Given the description of an element on the screen output the (x, y) to click on. 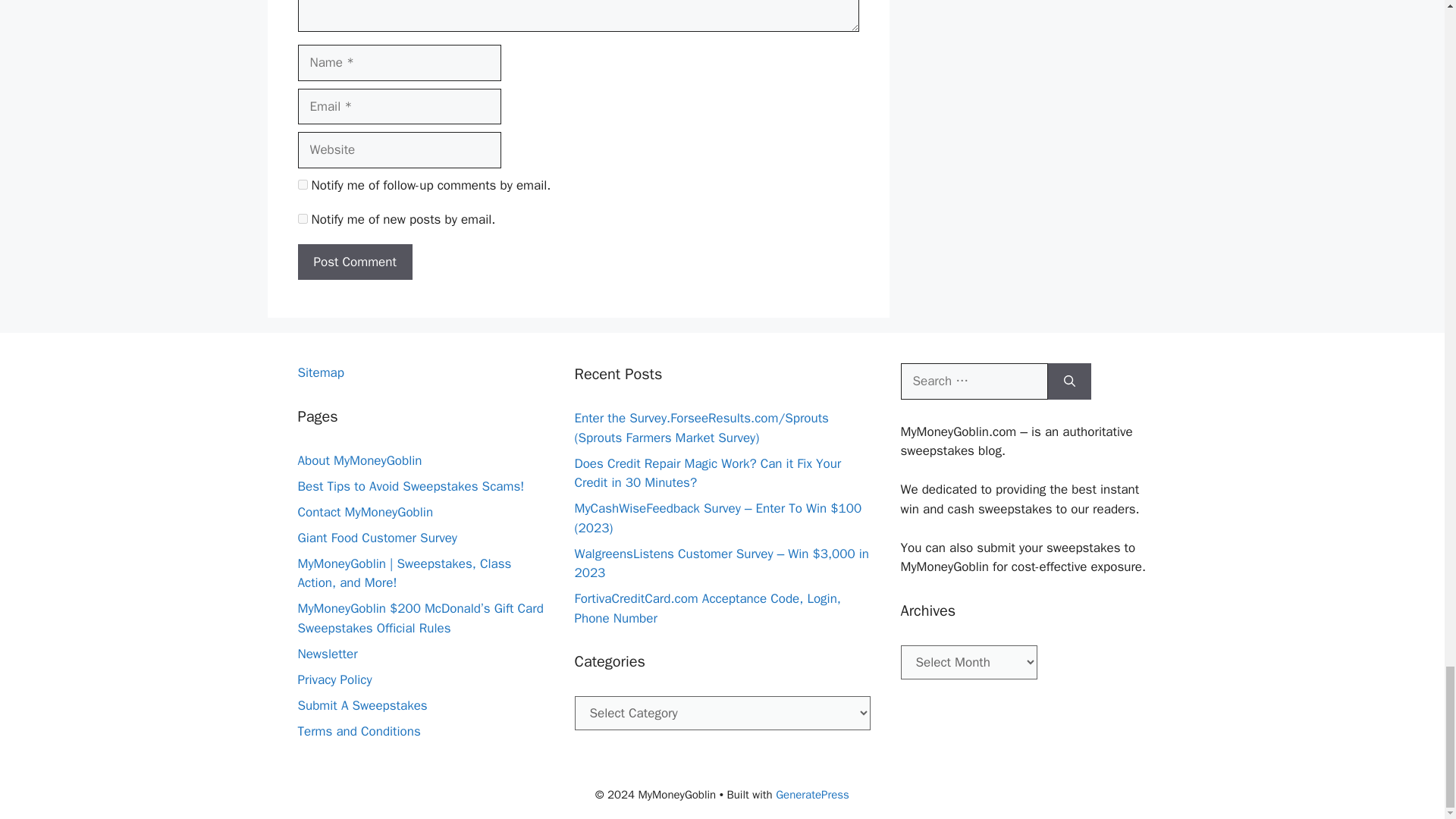
Post Comment (354, 262)
About MyMoneyGoblin (359, 460)
Search for: (974, 381)
subscribe (302, 184)
Post Comment (354, 262)
Best Tips to Avoid Sweepstakes Scams! (410, 486)
subscribe (302, 218)
Sitemap (320, 372)
